Given the description of an element on the screen output the (x, y) to click on. 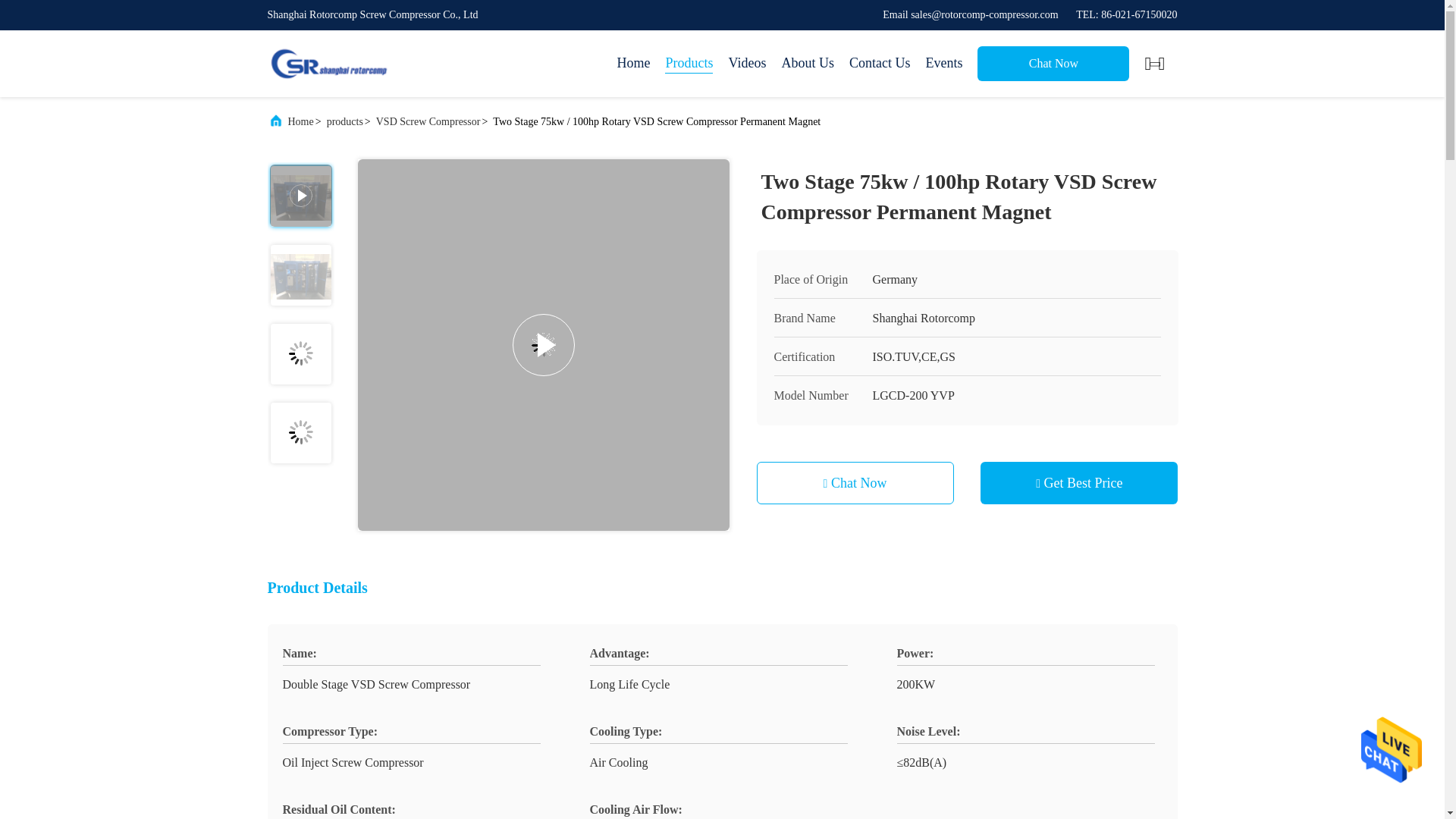
Chat Now (1052, 63)
About Us (807, 63)
email (970, 14)
Events (943, 63)
Products (689, 63)
Home (632, 63)
Contact Us (879, 63)
